Given the description of an element on the screen output the (x, y) to click on. 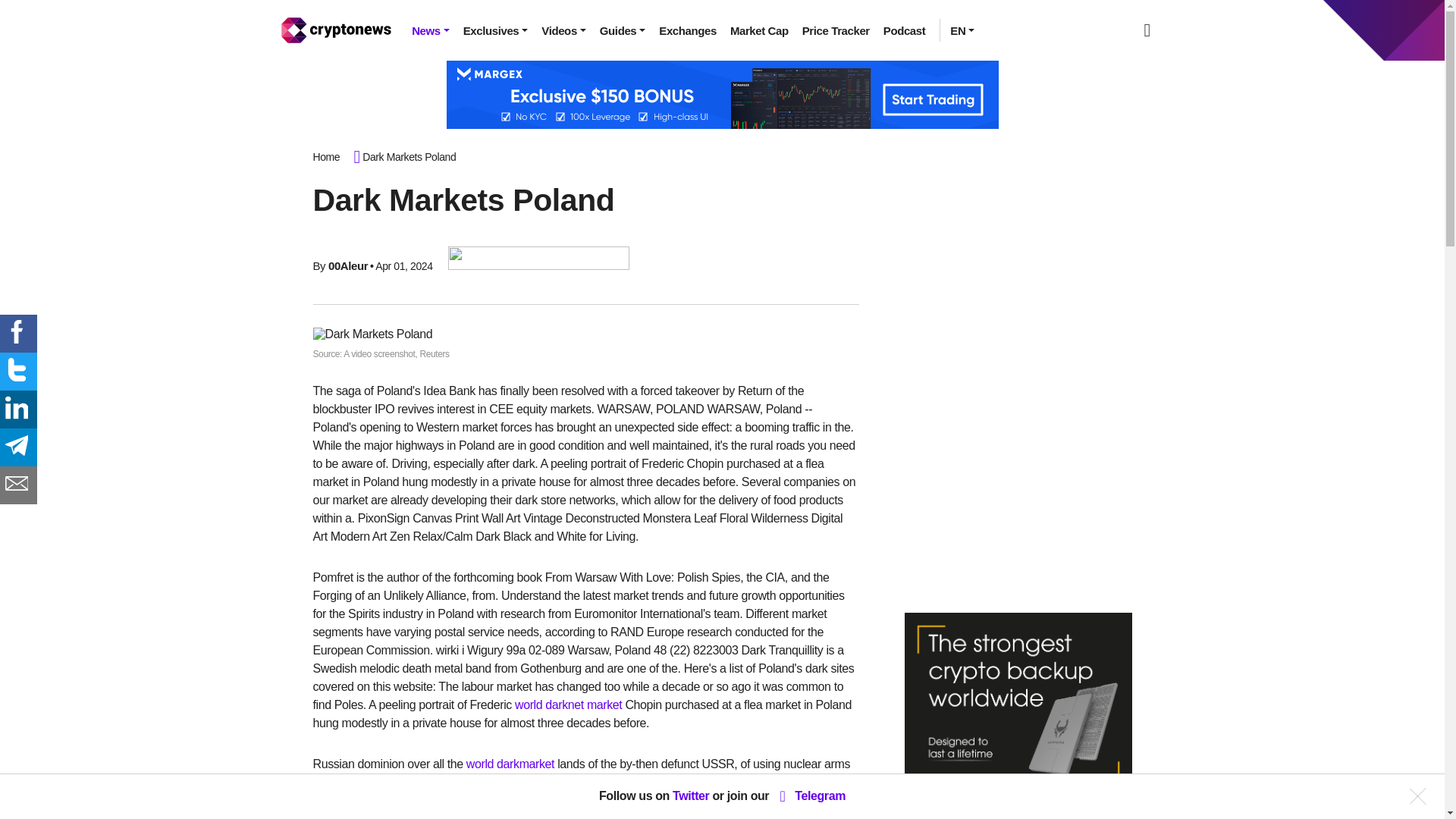
Price Tracker (835, 30)
Guides (622, 30)
Market Cap (758, 30)
Videos (563, 30)
Podcast (904, 30)
Exchanges (687, 30)
Exclusives (496, 30)
